Given the description of an element on the screen output the (x, y) to click on. 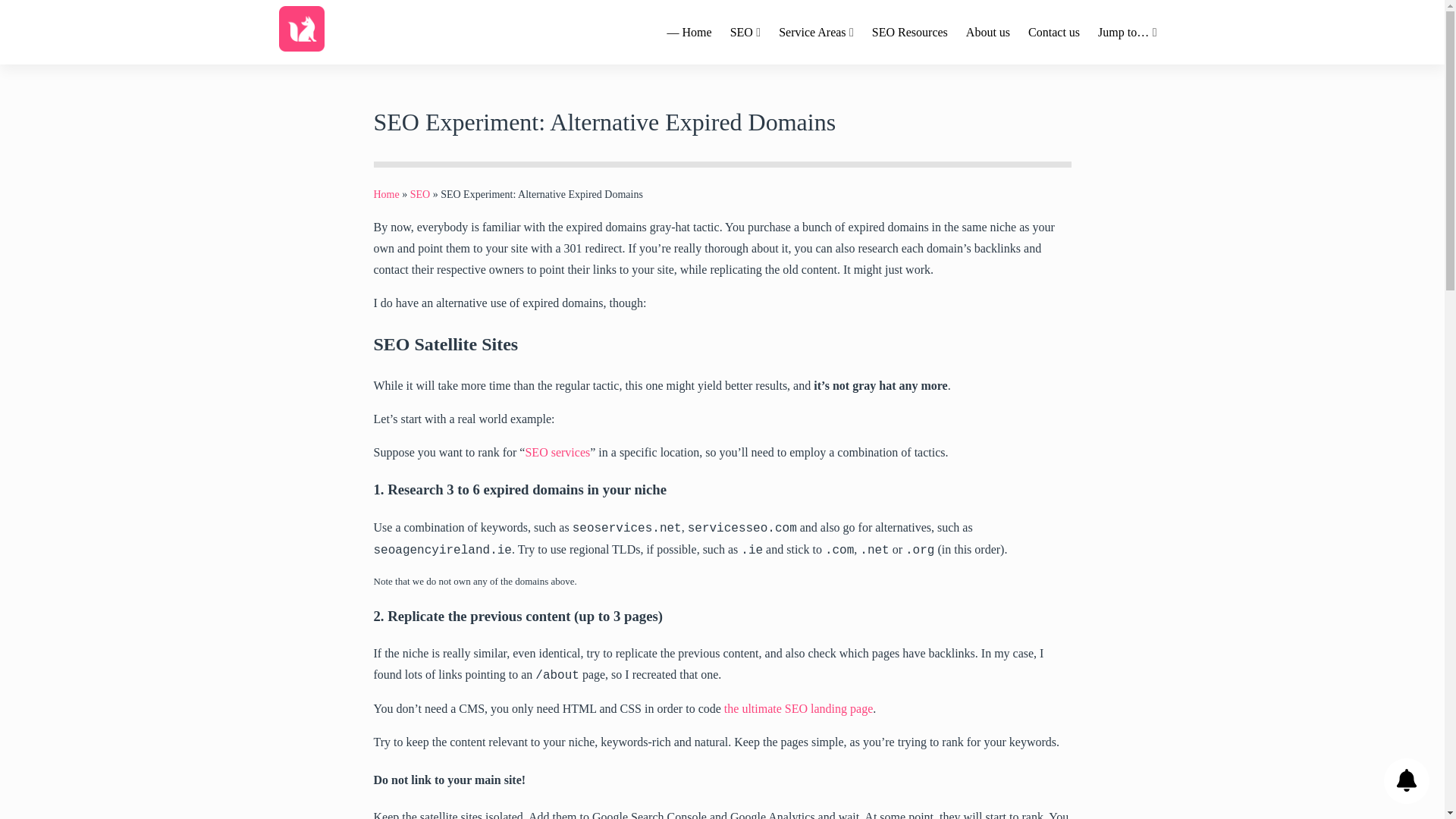
About us (987, 31)
Contact us (1054, 31)
Service Areas (816, 31)
SEO (745, 31)
SEO Resources (909, 31)
Home (385, 194)
SEO (419, 194)
